Given the description of an element on the screen output the (x, y) to click on. 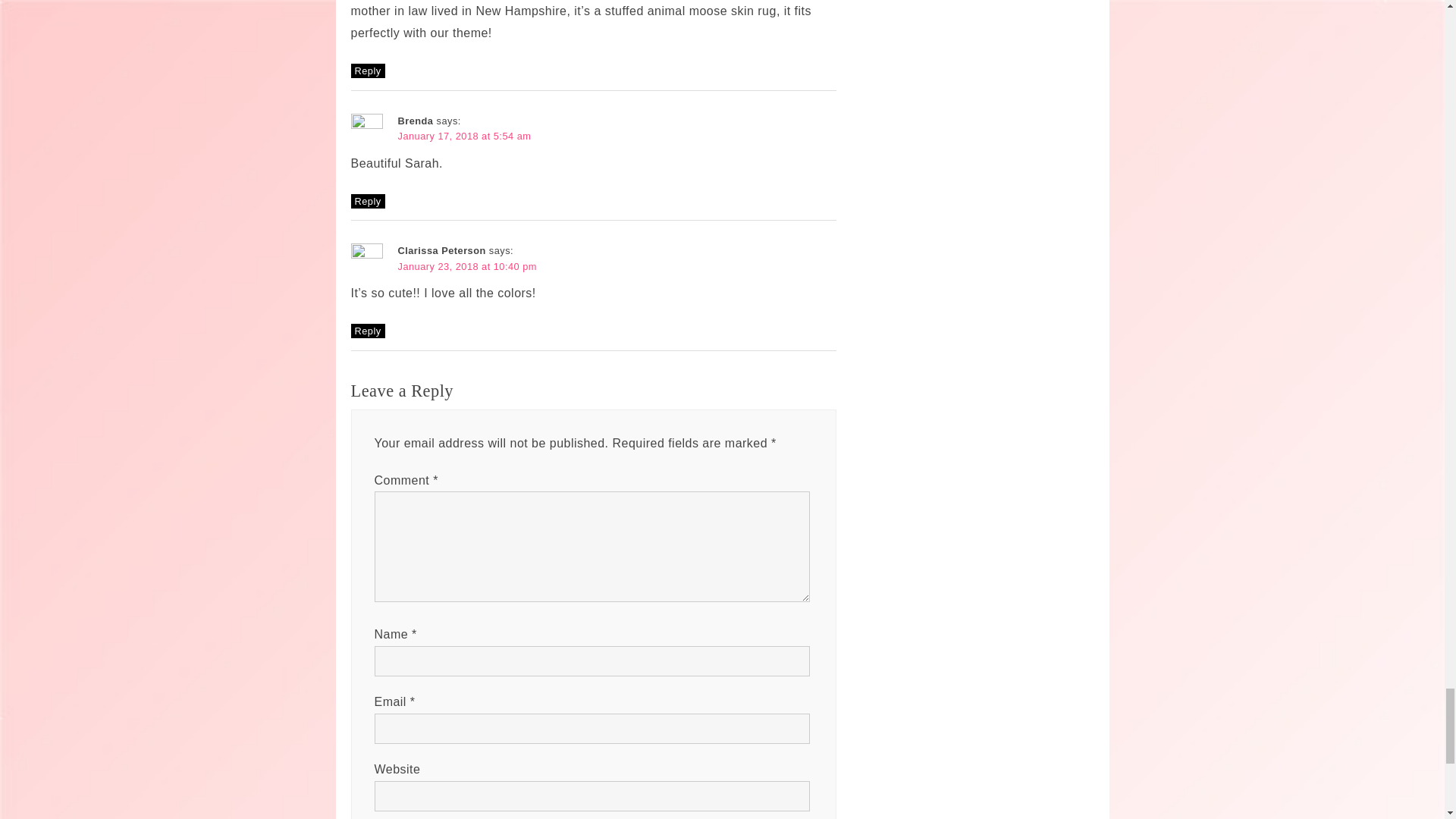
Reply (367, 70)
Reply (367, 330)
January 23, 2018 at 10:40 pm (466, 266)
Reply (367, 201)
January 17, 2018 at 5:54 am (464, 135)
